Given the description of an element on the screen output the (x, y) to click on. 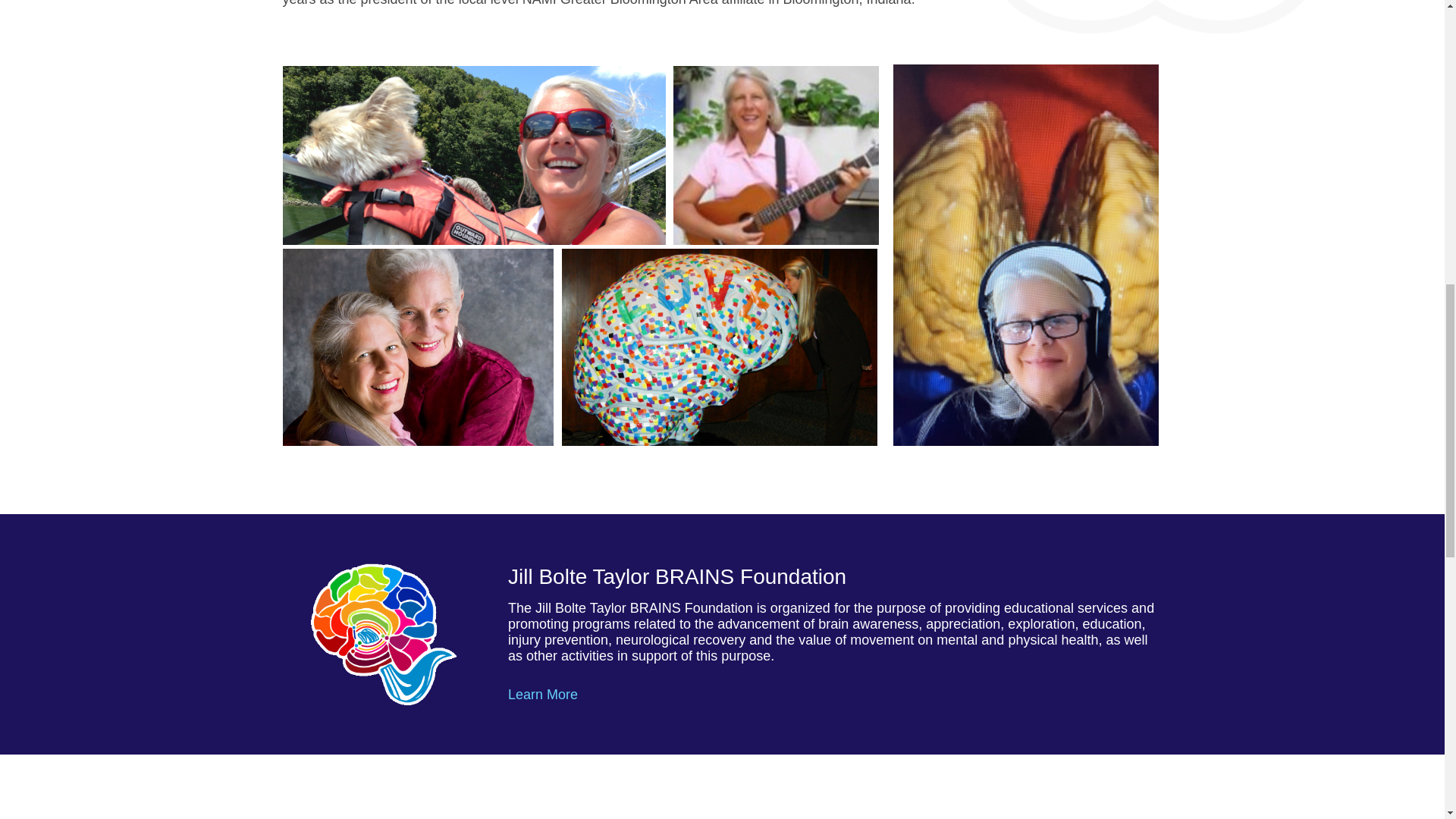
stainedglass-brain-png8 (383, 634)
